Given the description of an element on the screen output the (x, y) to click on. 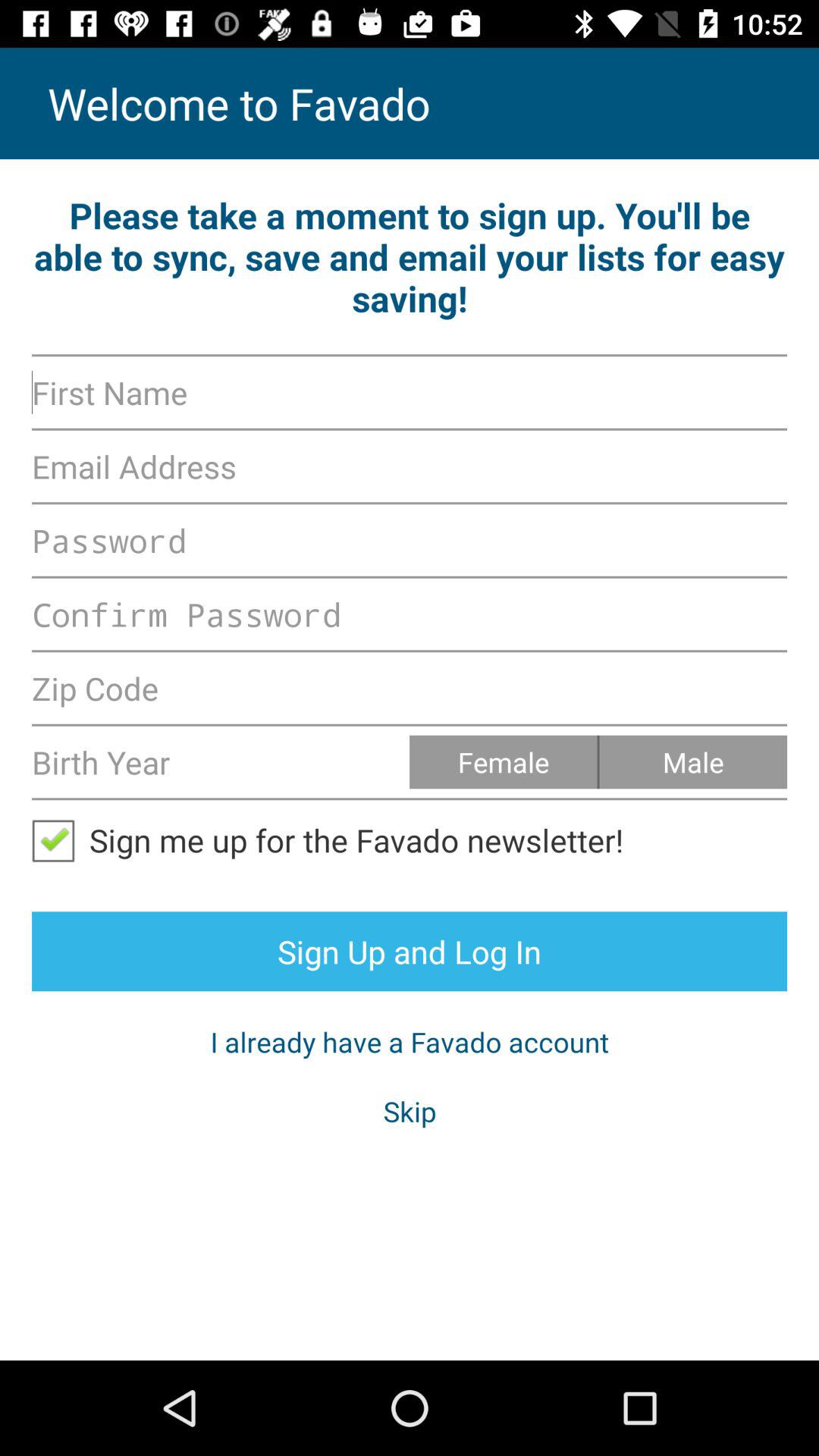
enter password (409, 540)
